Given the description of an element on the screen output the (x, y) to click on. 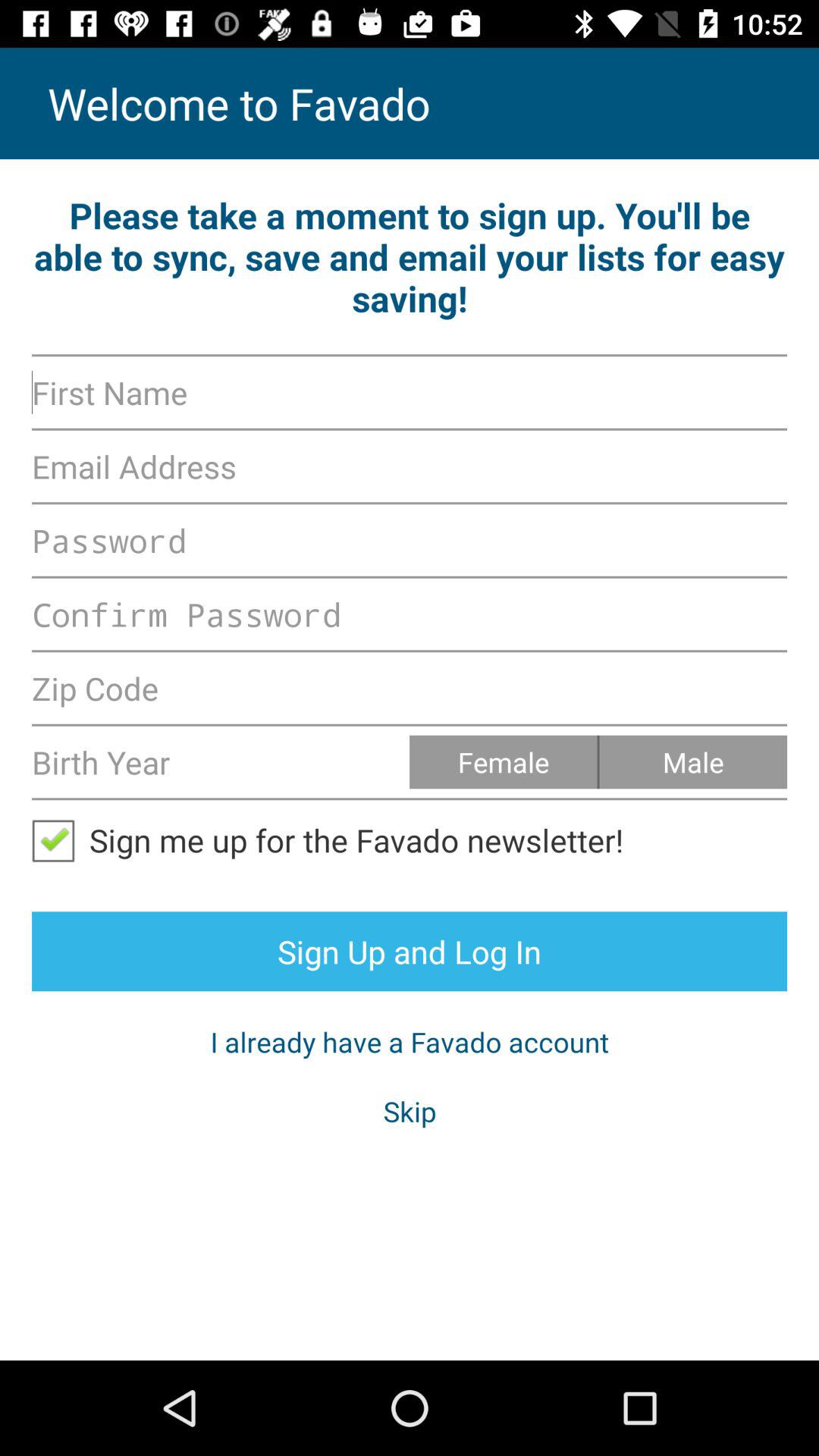
enter password (409, 540)
